Given the description of an element on the screen output the (x, y) to click on. 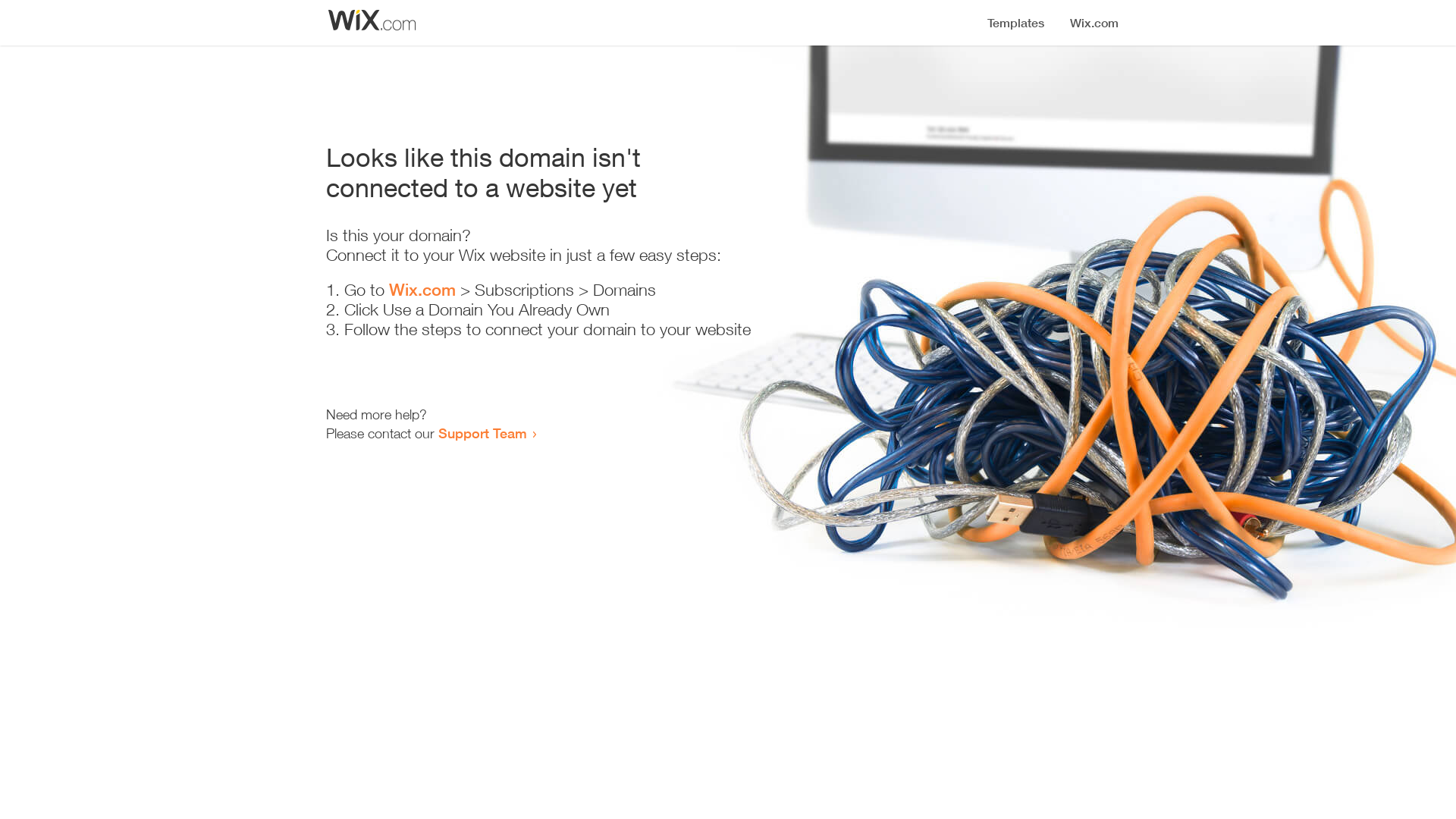
Wix.com Element type: text (422, 289)
Support Team Element type: text (482, 432)
